Given the description of an element on the screen output the (x, y) to click on. 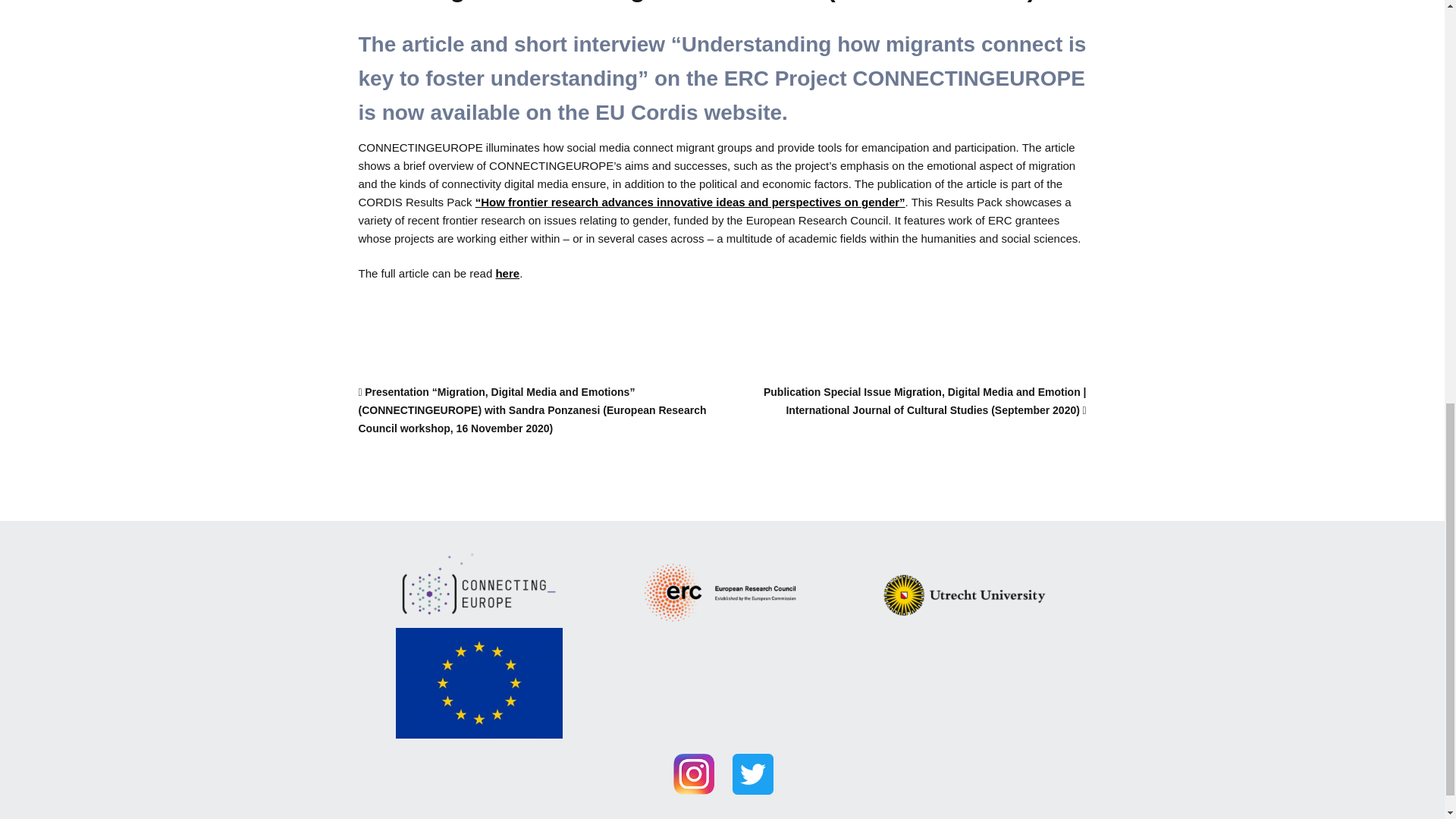
here (507, 273)
